Given the description of an element on the screen output the (x, y) to click on. 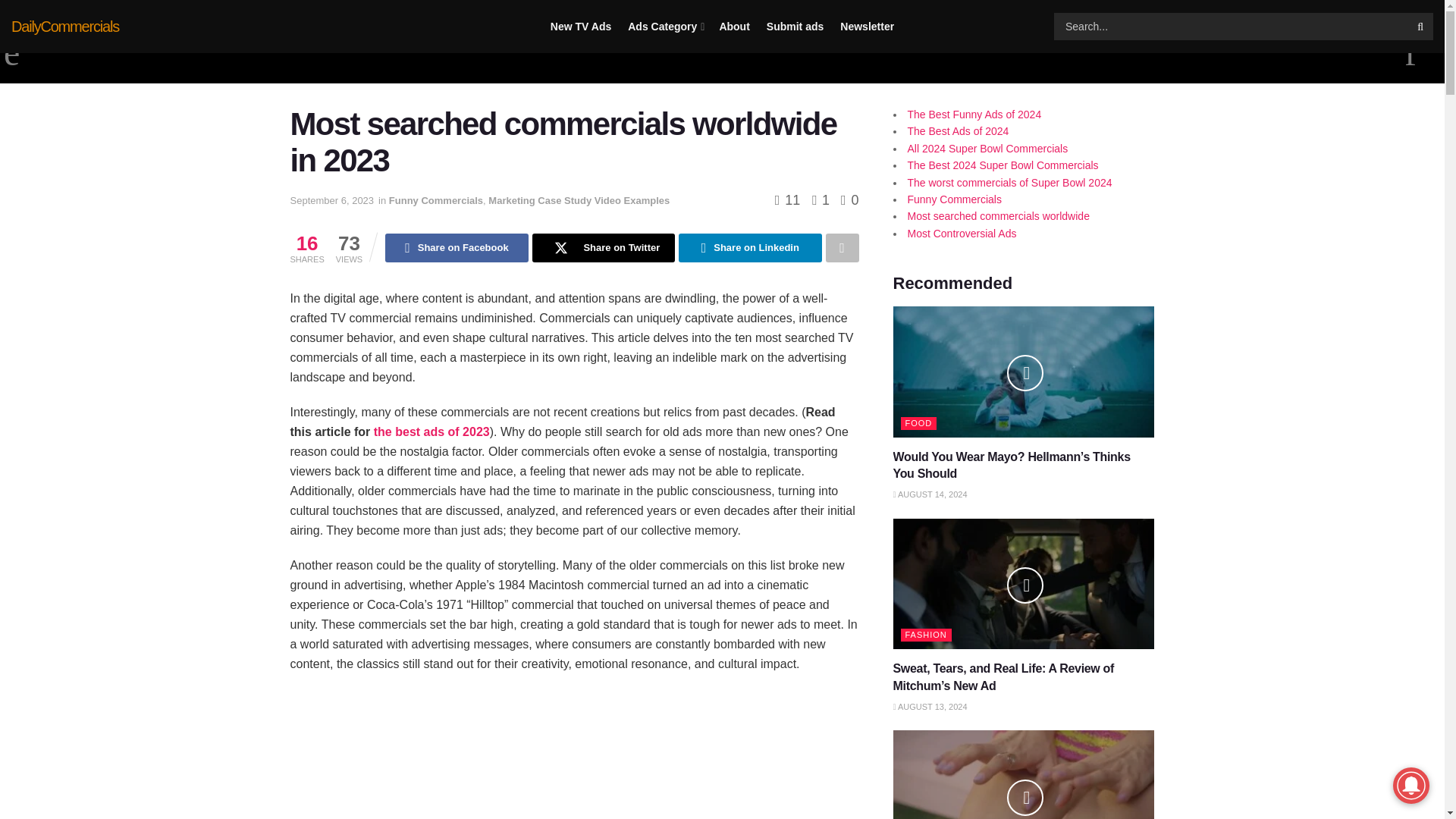
Ads Category (664, 26)
Newsletter (866, 26)
DailyCommercials (65, 26)
Submit ads (795, 26)
New TV Ads (580, 26)
